Given the description of an element on the screen output the (x, y) to click on. 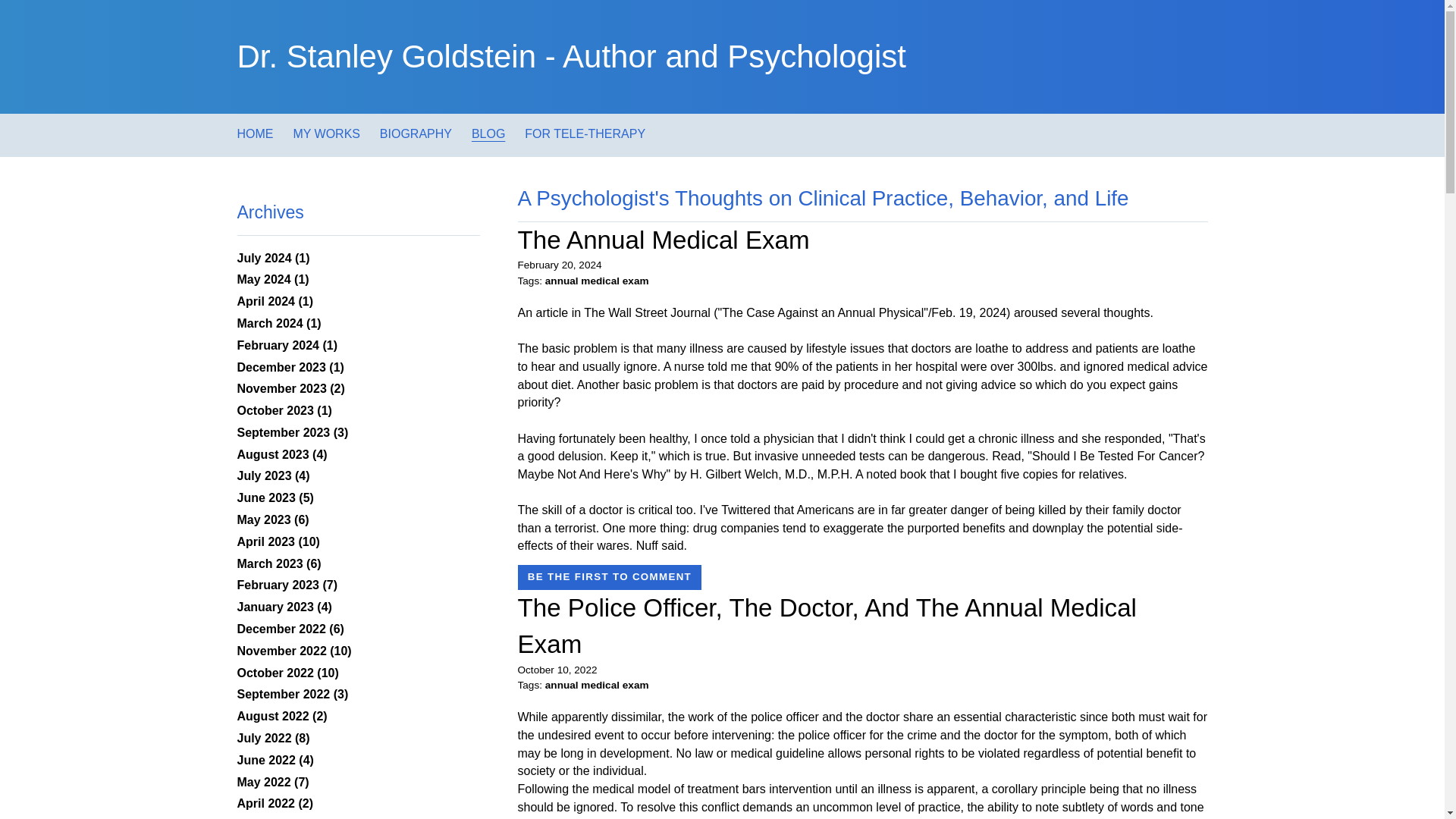
MY WORKS (325, 133)
HOME (254, 133)
BLOG (488, 133)
BIOGRAPHY (415, 133)
Dr. Stanley Goldstein - Author and Psychologist (570, 56)
FOR TELE-THERAPY (584, 133)
